Given the description of an element on the screen output the (x, y) to click on. 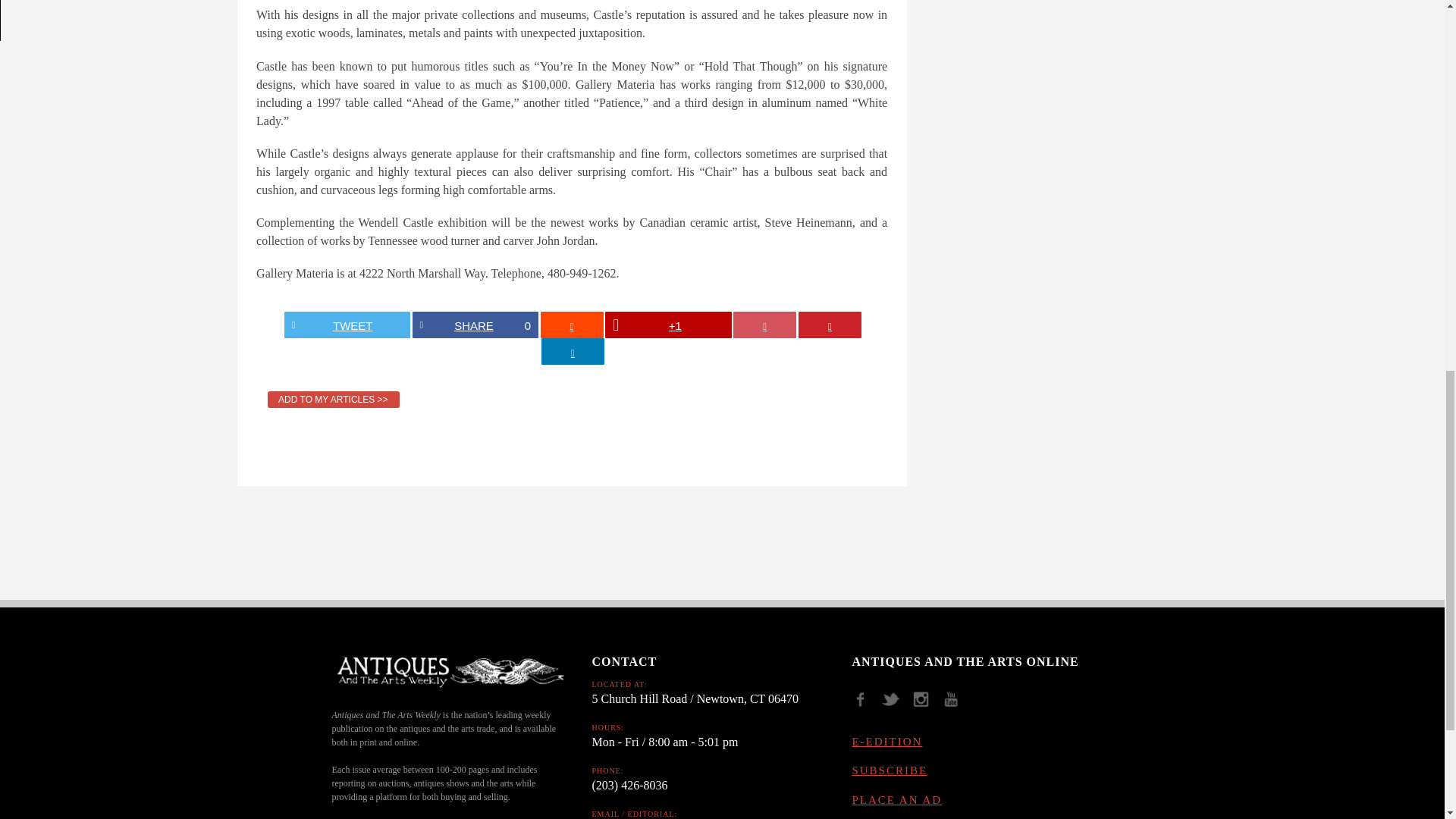
Instagram (926, 704)
Facebook (865, 704)
Youtube (956, 704)
Twitter (896, 704)
